Given the description of an element on the screen output the (x, y) to click on. 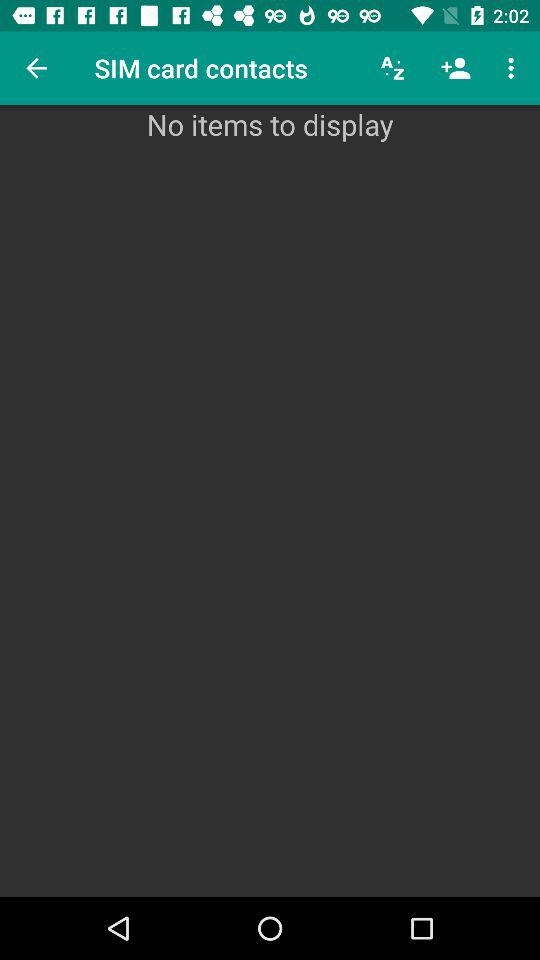
turn off icon at the top left corner (36, 68)
